Given the description of an element on the screen output the (x, y) to click on. 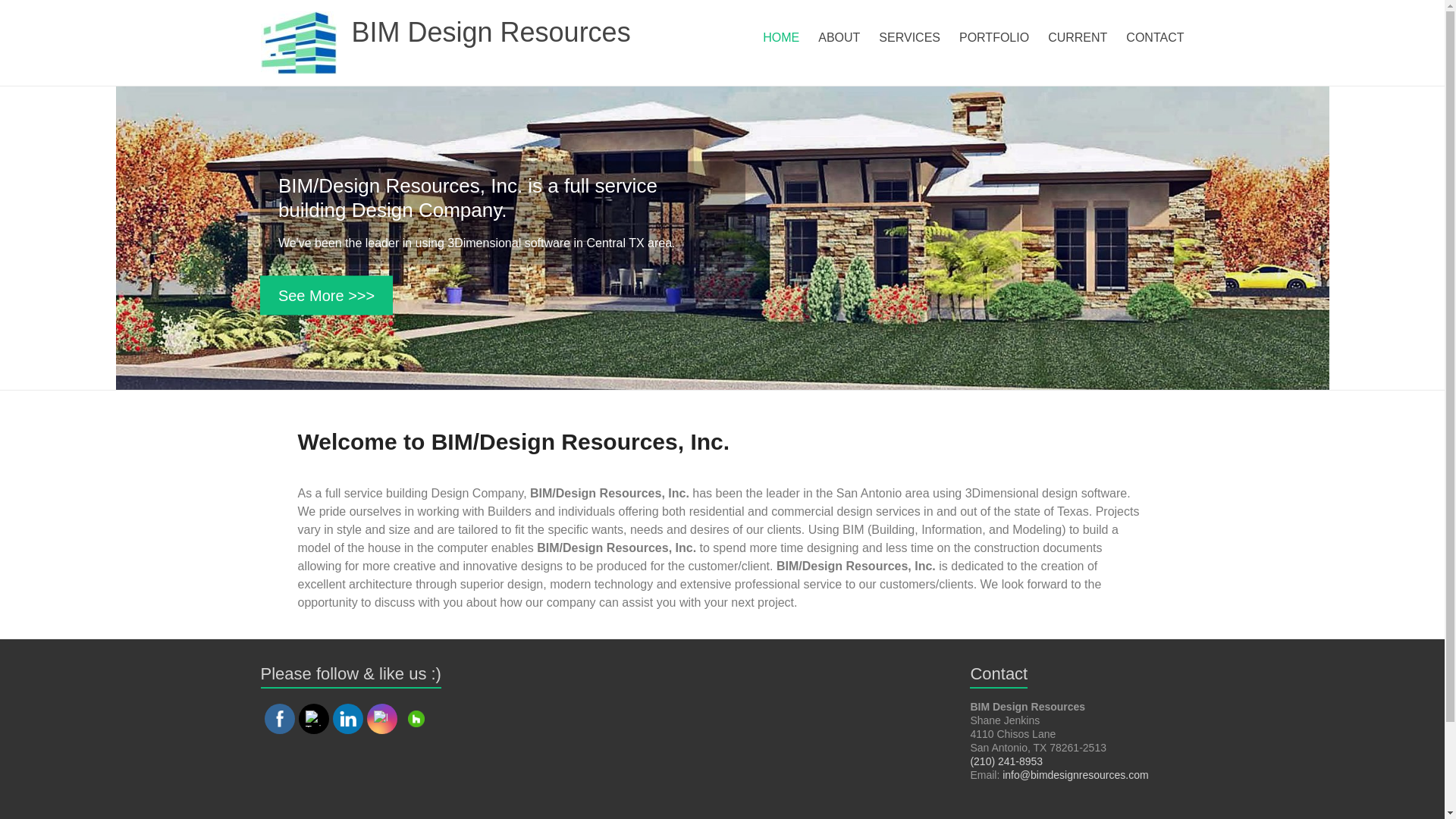
Facebook (279, 718)
CONTACT (1154, 37)
ABOUT (839, 37)
Twitter (312, 718)
SERVICES (909, 37)
HOME (780, 37)
BIM Design Resources (491, 31)
BIM Design Resources (491, 31)
PORTFOLIO (994, 37)
CURRENT (1077, 37)
